Given the description of an element on the screen output the (x, y) to click on. 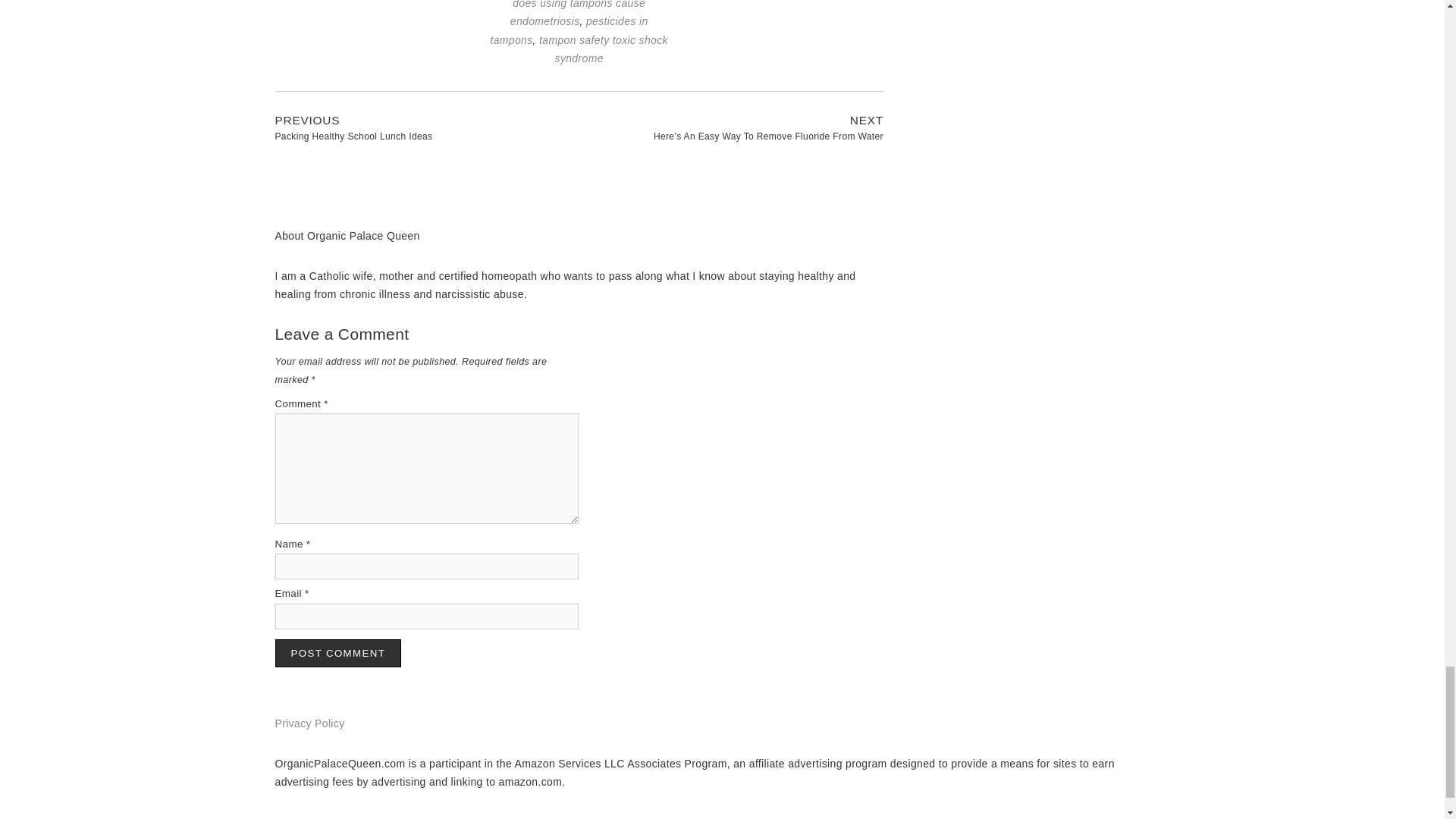
Post Comment (338, 653)
